Given the description of an element on the screen output the (x, y) to click on. 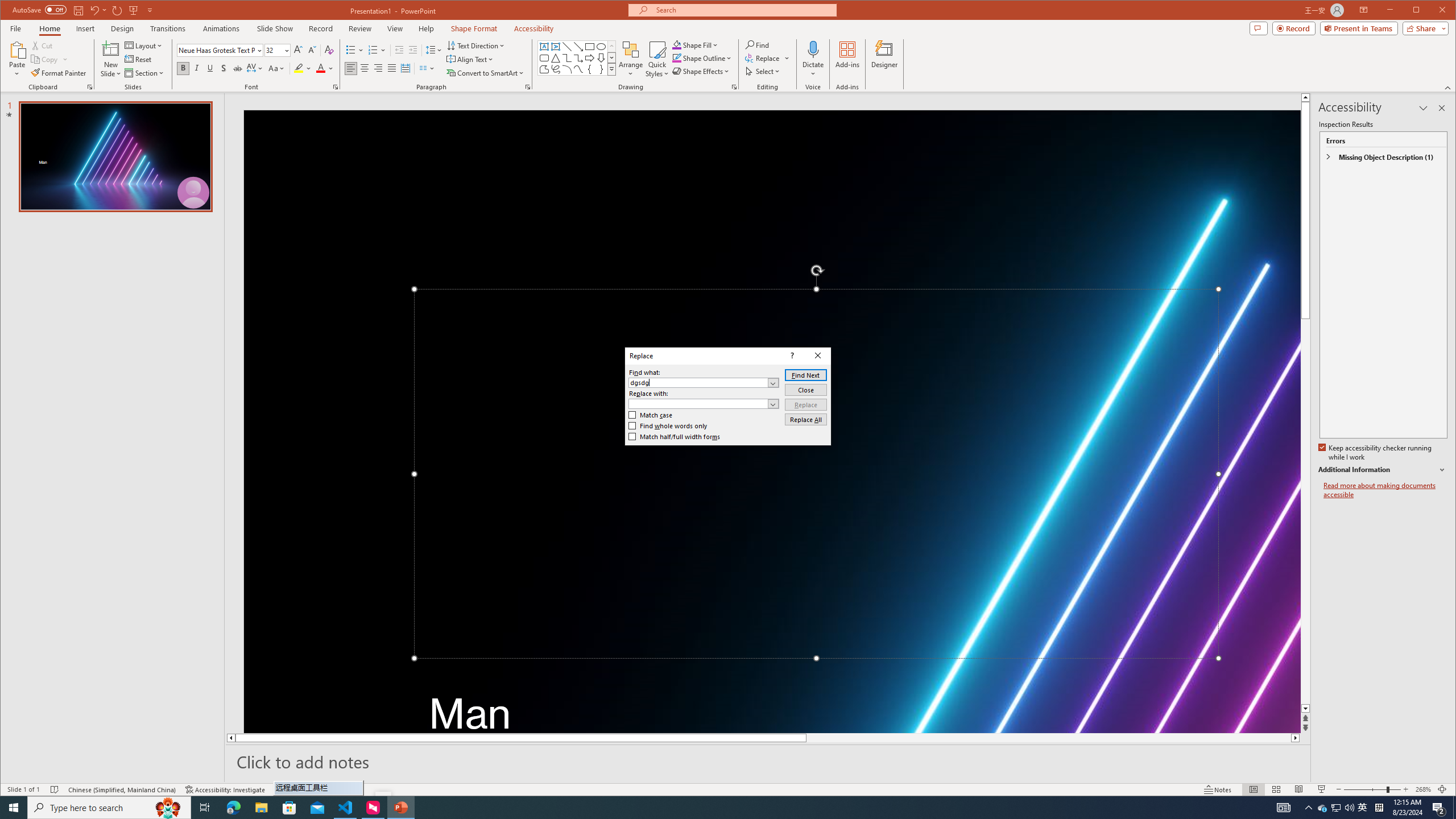
Shape Outline Blue, Accent 1 (676, 57)
Match case (650, 414)
